Given the description of an element on the screen output the (x, y) to click on. 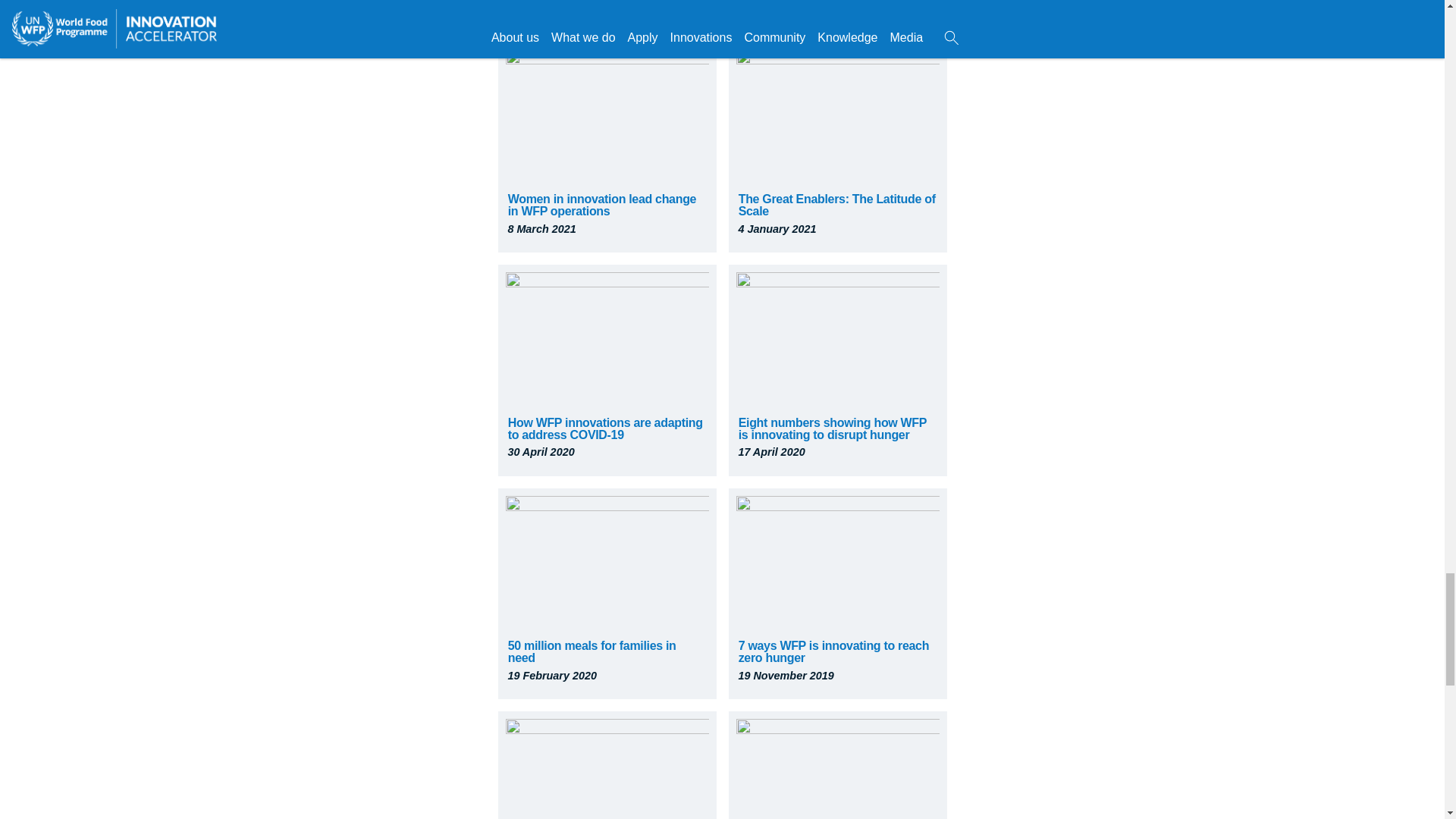
How WFP innovations are adapting to address COVID-19 (605, 428)
Women in innovation lead change in WFP operations (601, 204)
The Great Enablers: The Latitude of Scale (837, 204)
50 million meals for families in need (592, 651)
